Given the description of an element on the screen output the (x, y) to click on. 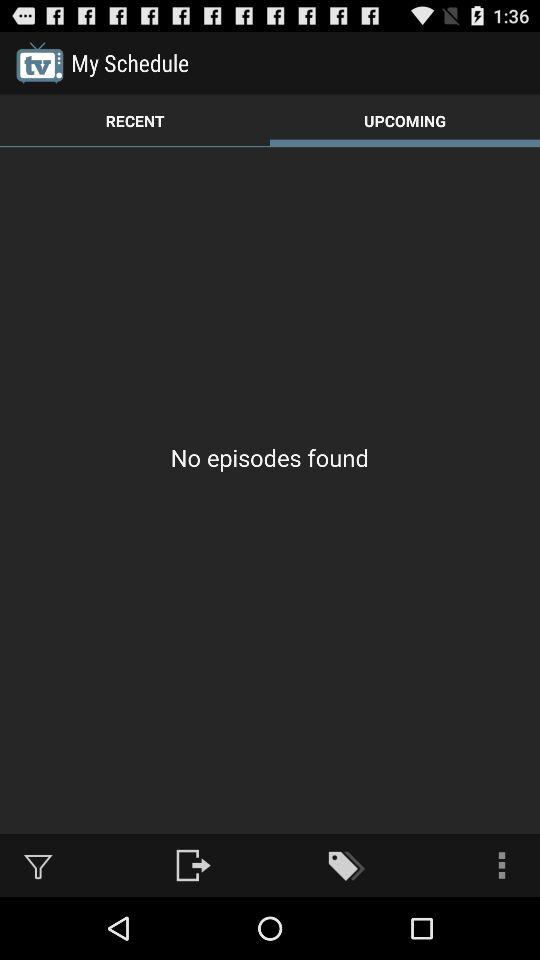
click the upcoming icon (405, 120)
